Given the description of an element on the screen output the (x, y) to click on. 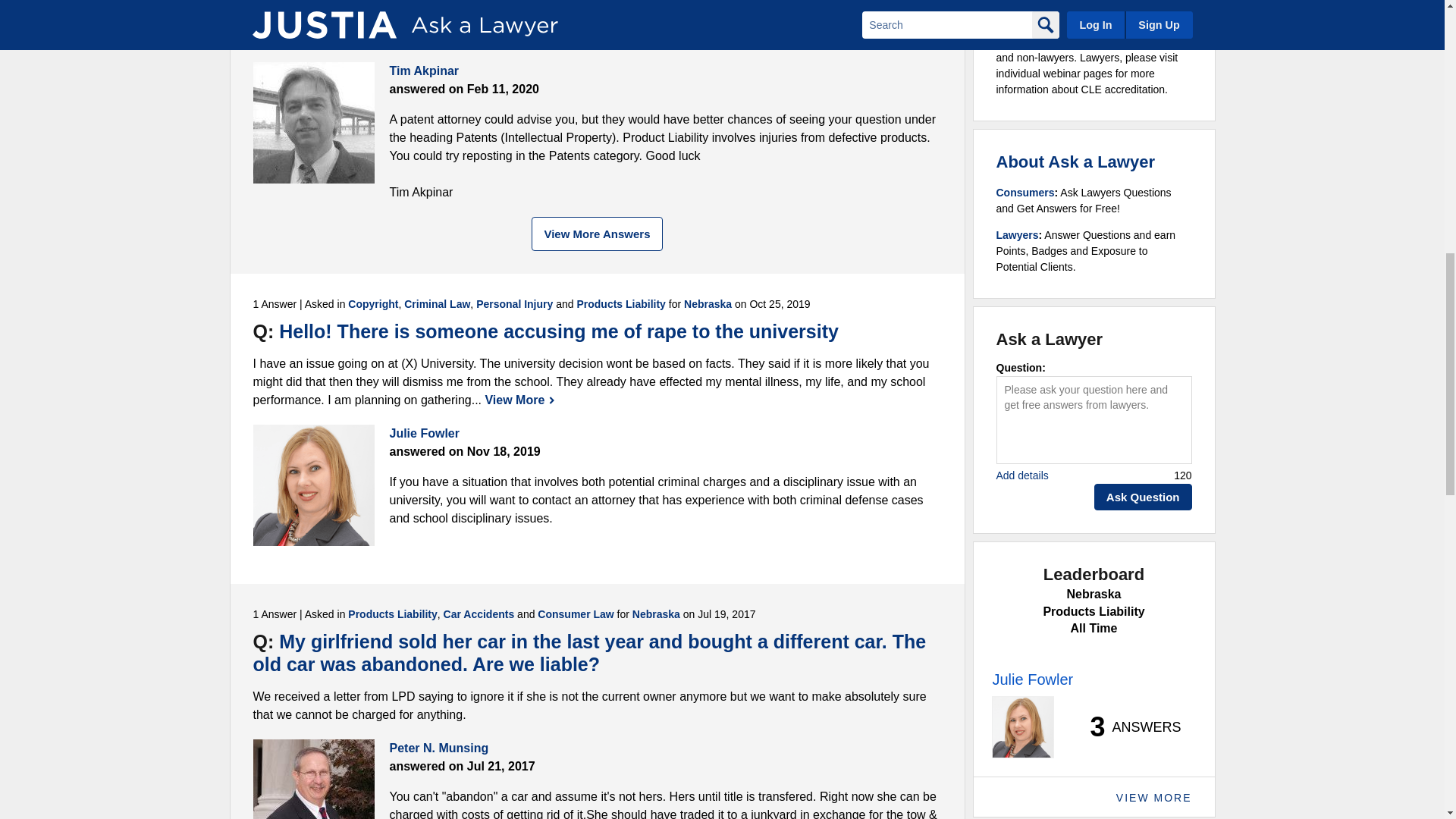
Ask a Lawyer - Leaderboard - Lawyer Stats (1127, 727)
Julie Fowler (313, 485)
Ask a Lawyer - Leaderboard - Lawyer Name (1032, 679)
Tim Akpinar (313, 122)
Peter N. Munsing (313, 779)
Ask a Lawyer - Leaderboard - Lawyer Photo (1021, 726)
Ask a Lawyer - FAQs - Lawyers (1017, 234)
Ask a Lawyer - FAQs - Consumers (1024, 192)
